Given the description of an element on the screen output the (x, y) to click on. 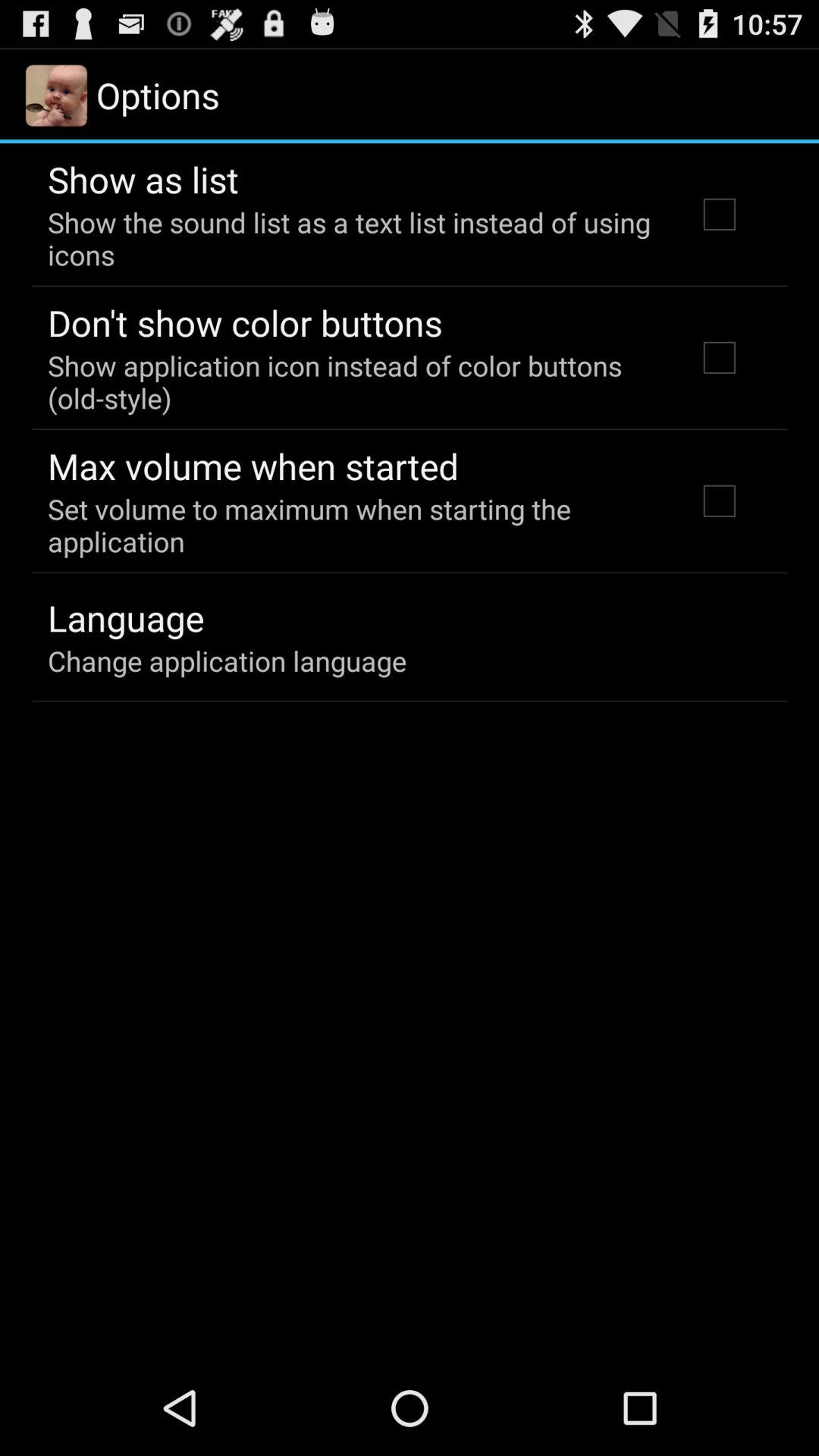
turn on the item below the language app (226, 660)
